Given the description of an element on the screen output the (x, y) to click on. 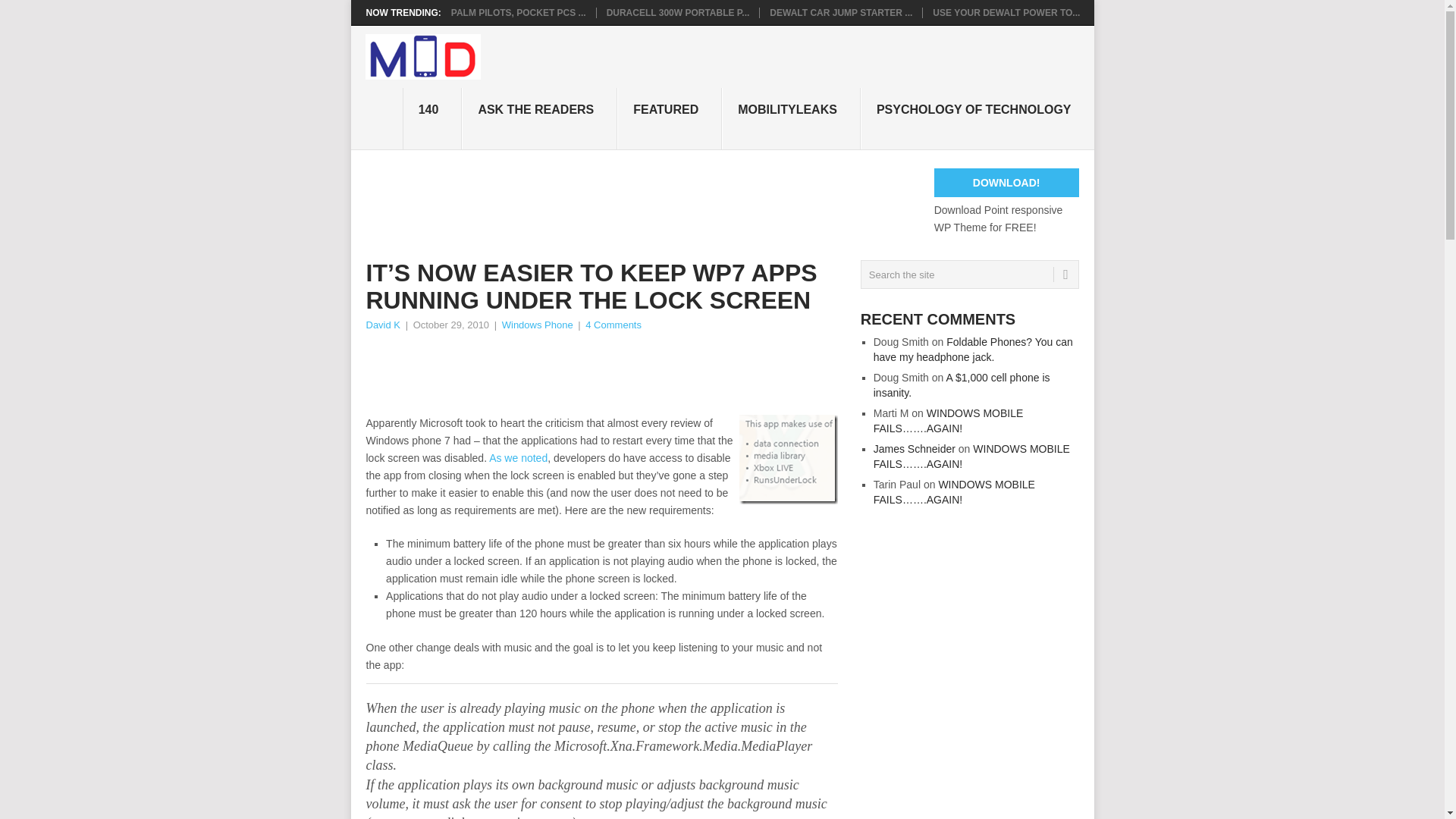
DOWNLOAD! (1006, 182)
ASK THE READERS (539, 118)
James Schneider (914, 449)
Posts by David K (382, 324)
Advertisement (641, 202)
image (788, 459)
Use Your DeWalt Power Tools Battery to Make Coffee! (1006, 12)
FEATURED (669, 118)
DEWALT CAR JUMP STARTER ... (841, 12)
PALM PILOTS, POCKET PCS ... (518, 12)
David K (382, 324)
Search the site (969, 274)
Foldable Phones? You can have my headphone jack. (973, 349)
DURACELL 300W PORTABLE P... (678, 12)
140 (433, 118)
